Given the description of an element on the screen output the (x, y) to click on. 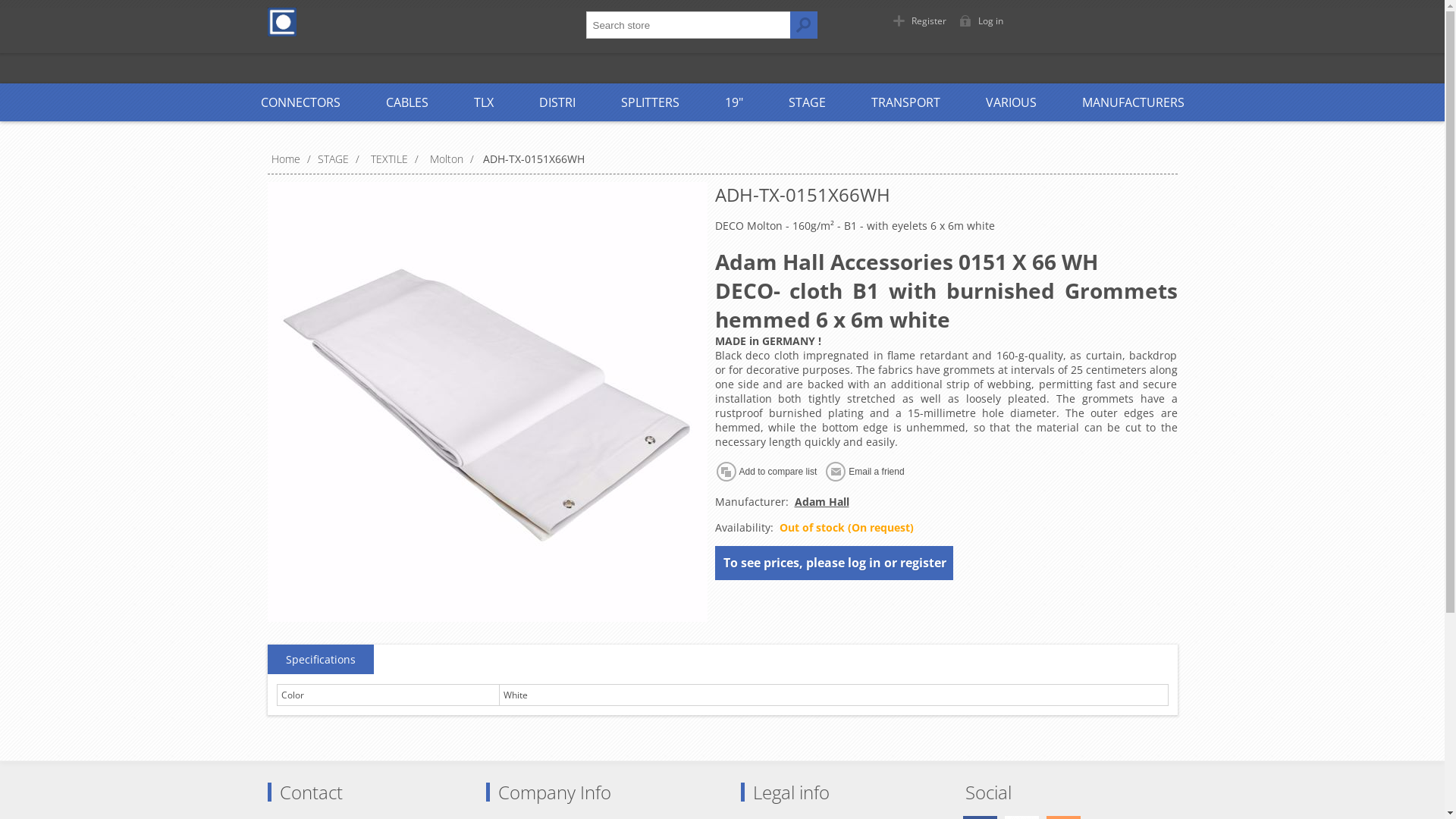
STAGE Element type: text (333, 158)
Specifications Element type: text (319, 659)
STAGE Element type: text (806, 102)
CABLES Element type: text (406, 102)
MANUFACTURERS Element type: text (1132, 102)
TLX Element type: text (482, 102)
SPLITTERS Element type: text (649, 102)
Log in Element type: text (983, 20)
TRANSPORT Element type: text (904, 102)
DISTRI Element type: text (556, 102)
Search Element type: text (803, 24)
Home Element type: text (286, 158)
To see prices, please log in or register Element type: text (834, 561)
TEXTILE Element type: text (389, 158)
CONNECTORS Element type: text (300, 102)
VARIOUS Element type: text (1011, 102)
Email a friend Element type: text (867, 471)
Molton Element type: text (446, 158)
Add to compare list Element type: text (769, 471)
Adam Hall Element type: text (821, 501)
Register Element type: text (921, 20)
19" Element type: text (733, 102)
